Given the description of an element on the screen output the (x, y) to click on. 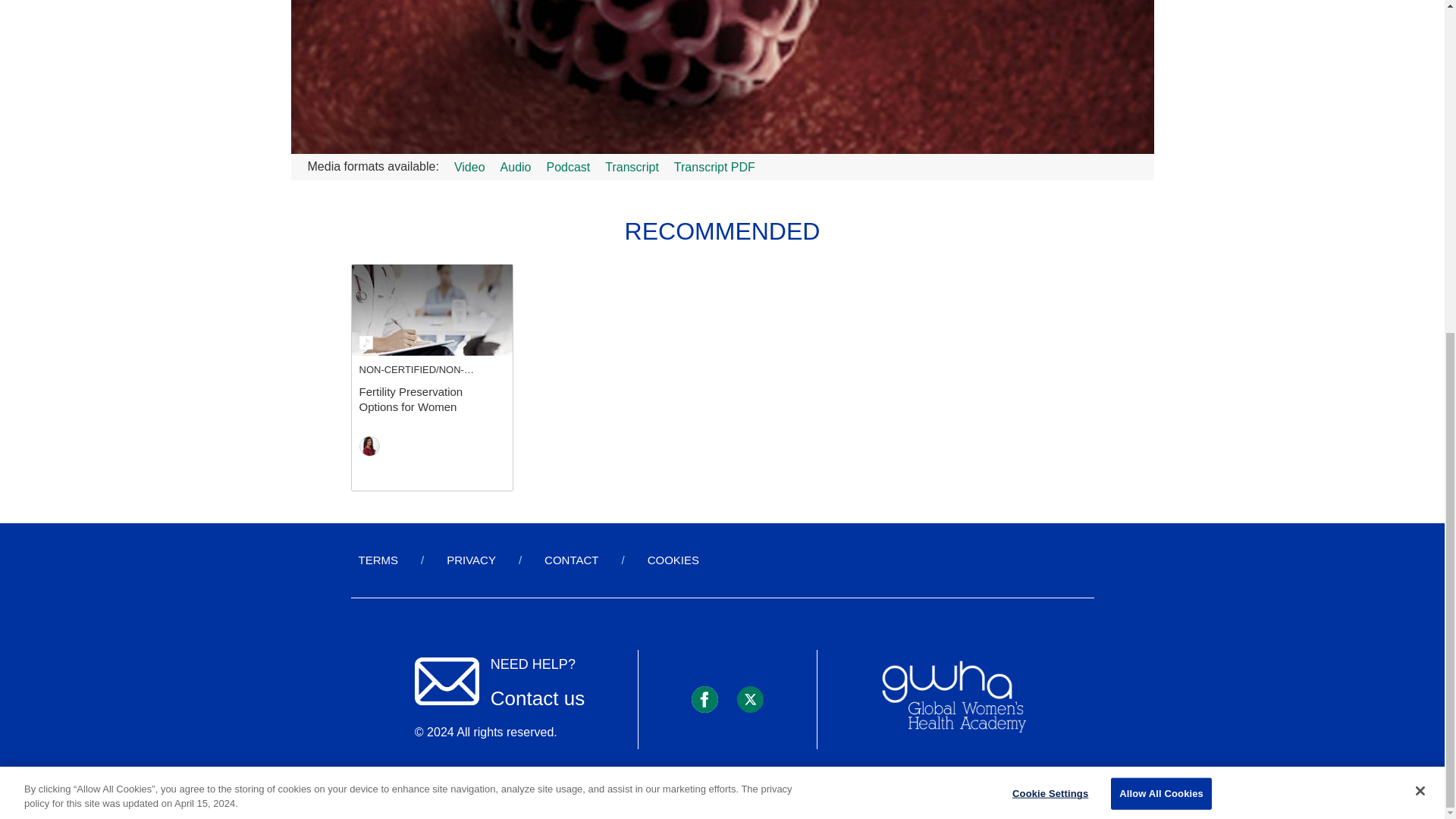
Global Women's Health Academy (953, 699)
Global Women's Health Academy (953, 697)
Twitter (749, 699)
